Given the description of an element on the screen output the (x, y) to click on. 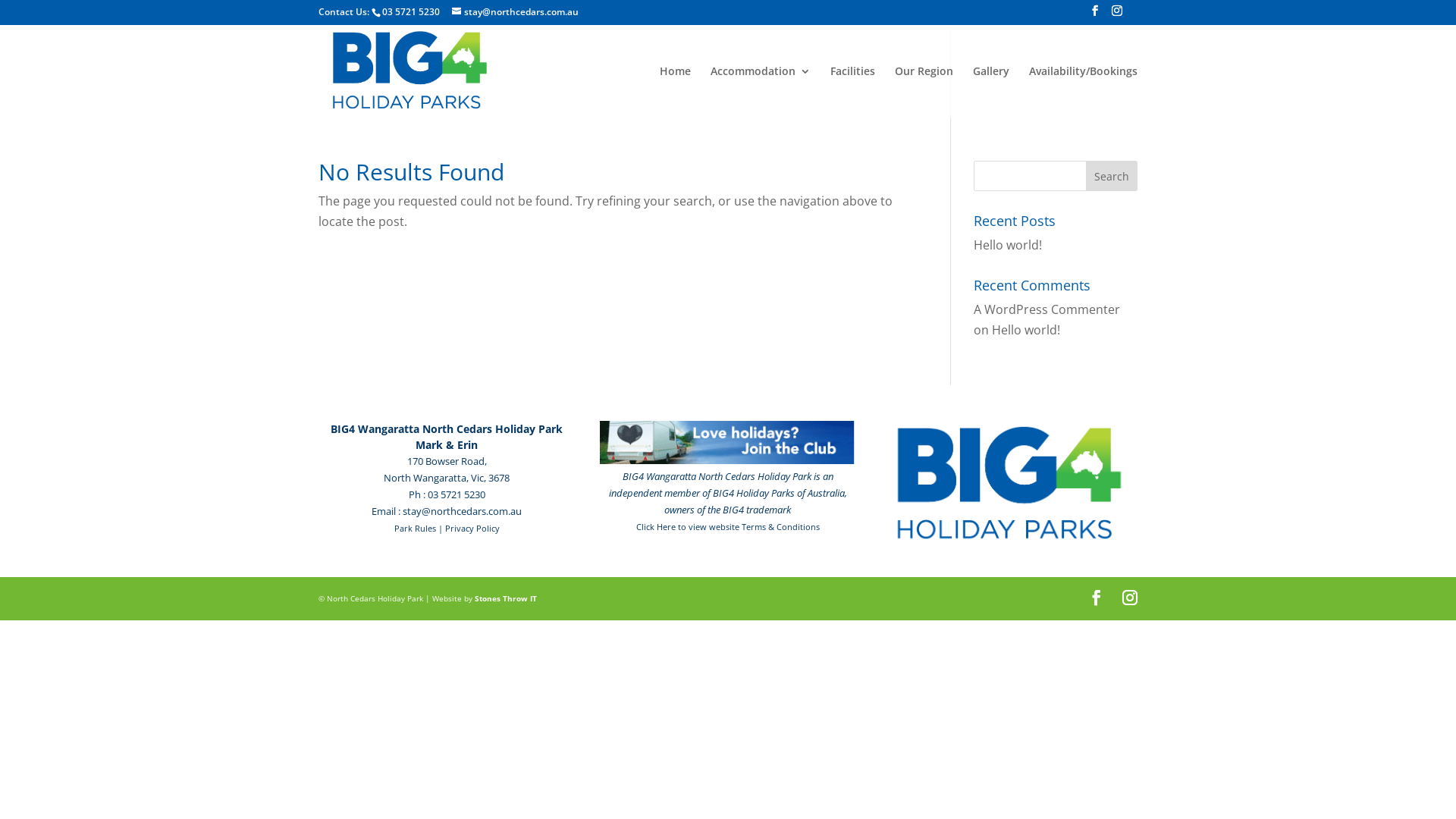
Our Region Element type: text (923, 90)
Click Here to view website Terms & Conditions Element type: text (727, 525)
Search Element type: text (1111, 175)
Facilities Element type: text (852, 90)
stay@northcedars.com.au Element type: text (514, 11)
Hello world! Element type: text (1007, 244)
Park Rules Element type: text (415, 528)
A WordPress Commenter Element type: text (1046, 309)
Gallery Element type: text (990, 90)
stay@northcedars.com.au Element type: text (461, 510)
Privacy Policy Element type: text (472, 528)
Accommodation Element type: text (760, 90)
Home Element type: text (674, 90)
Availability/Bookings Element type: text (1083, 90)
Stones Throw IT Element type: text (505, 598)
03 5721 5230 Element type: text (411, 11)
Hello world! Element type: text (1025, 329)
